Given the description of an element on the screen output the (x, y) to click on. 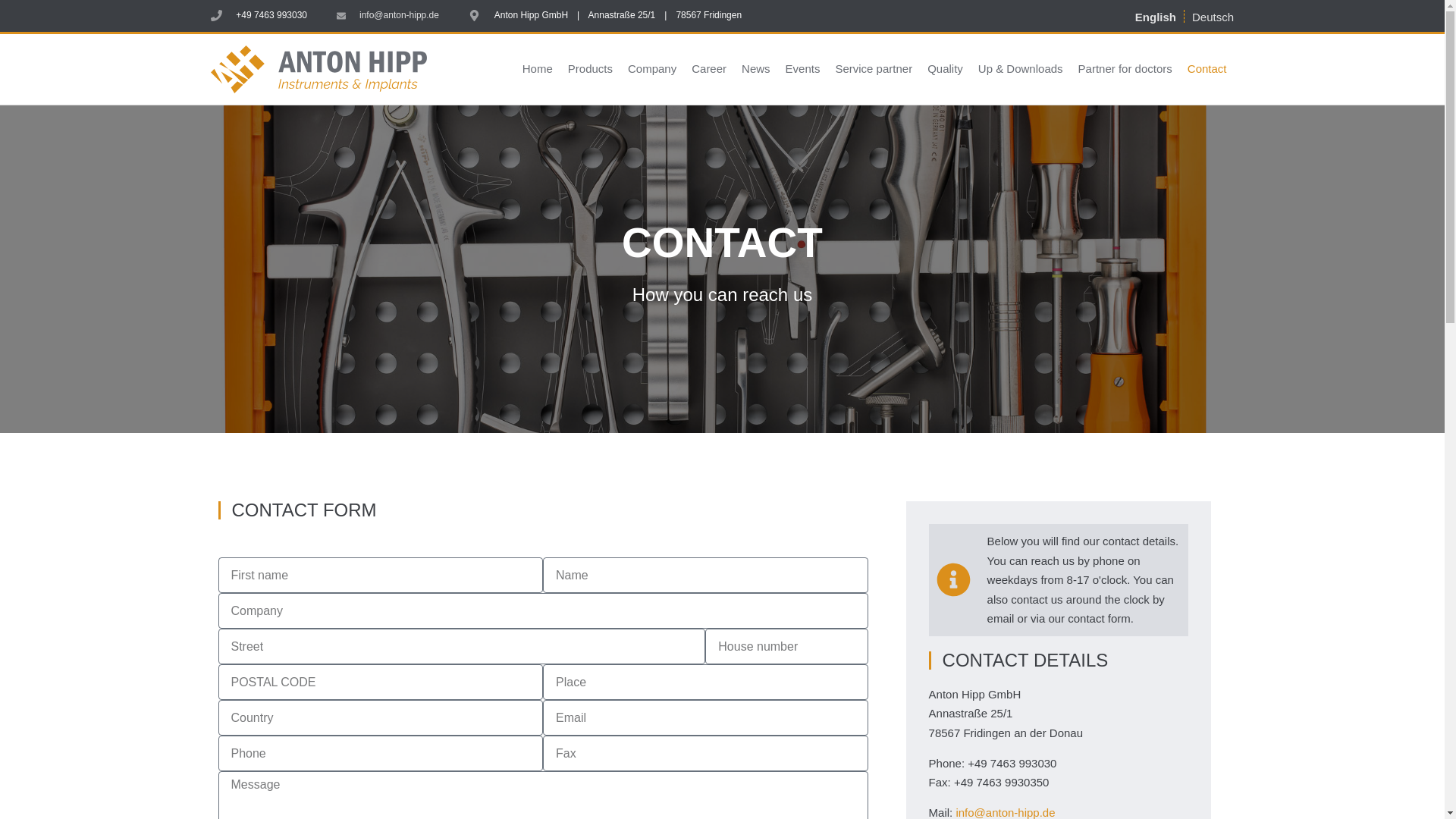
Products (590, 68)
Service partner (873, 68)
Company (652, 68)
Career (708, 68)
English (1155, 15)
News (755, 68)
Contact (1206, 68)
Home (537, 68)
Events (802, 68)
Partner for doctors (1124, 68)
